Given the description of an element on the screen output the (x, y) to click on. 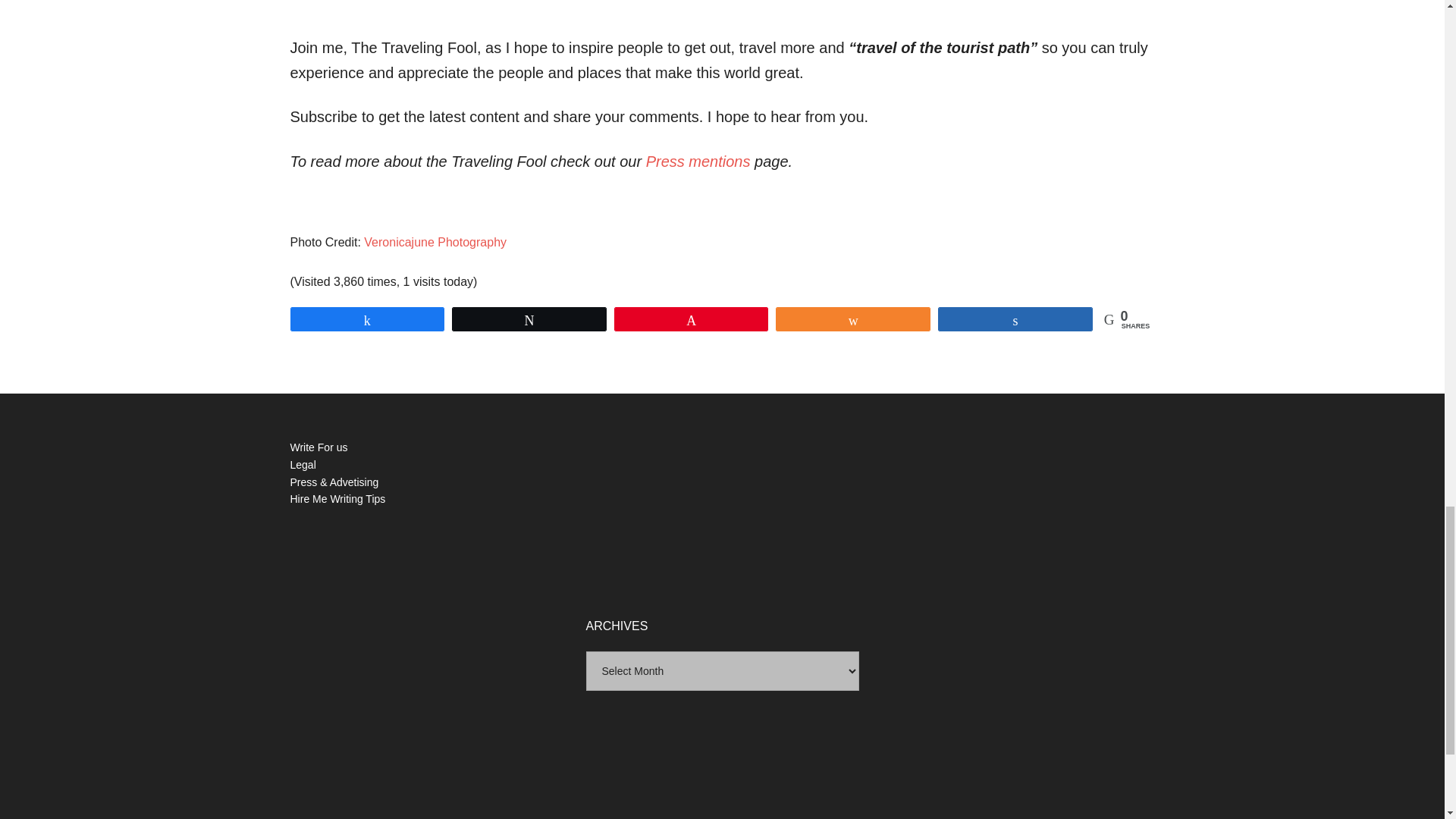
Legal (302, 464)
Press mentions (698, 161)
Veronicajune Photography (435, 241)
Hire Me (307, 499)
Write For us (318, 447)
Writing Tips (357, 499)
